Given the description of an element on the screen output the (x, y) to click on. 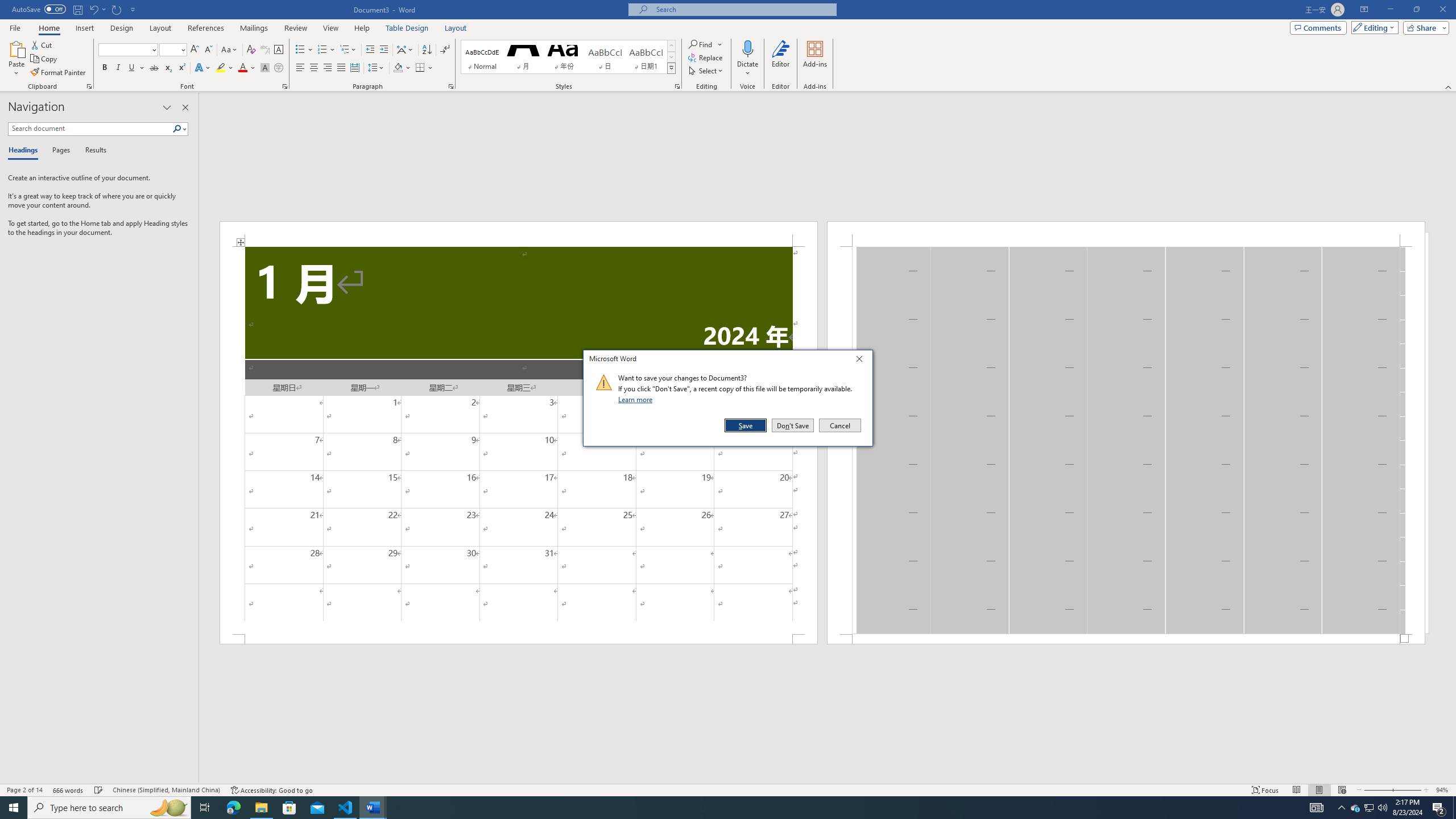
Task View (204, 807)
Increase Indent (383, 49)
Word - 2 running windows (373, 807)
Search document (89, 128)
Office Clipboard... (88, 85)
